Given the description of an element on the screen output the (x, y) to click on. 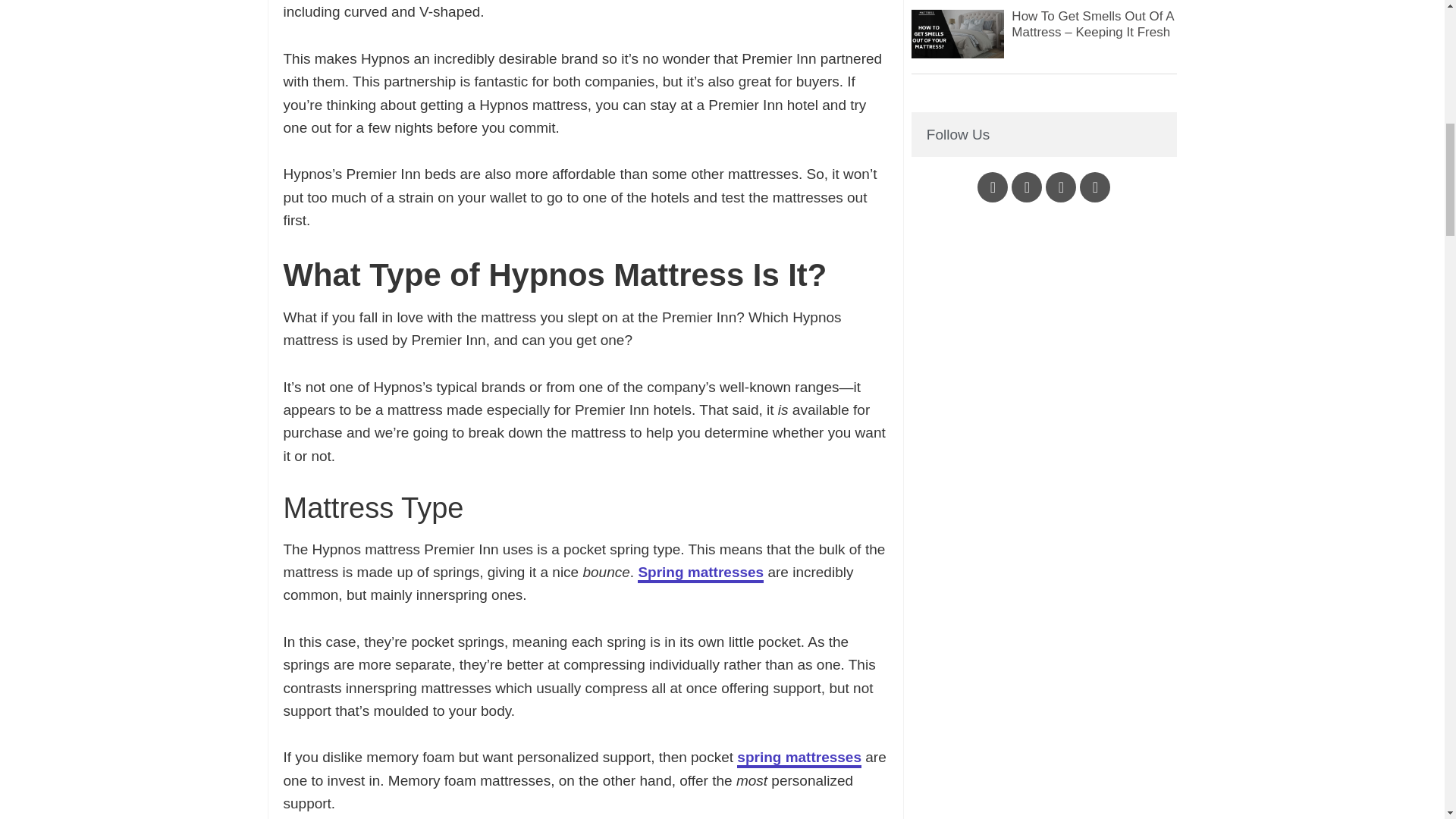
Spring mattresses (699, 573)
spring mattresses (798, 758)
